Given the description of an element on the screen output the (x, y) to click on. 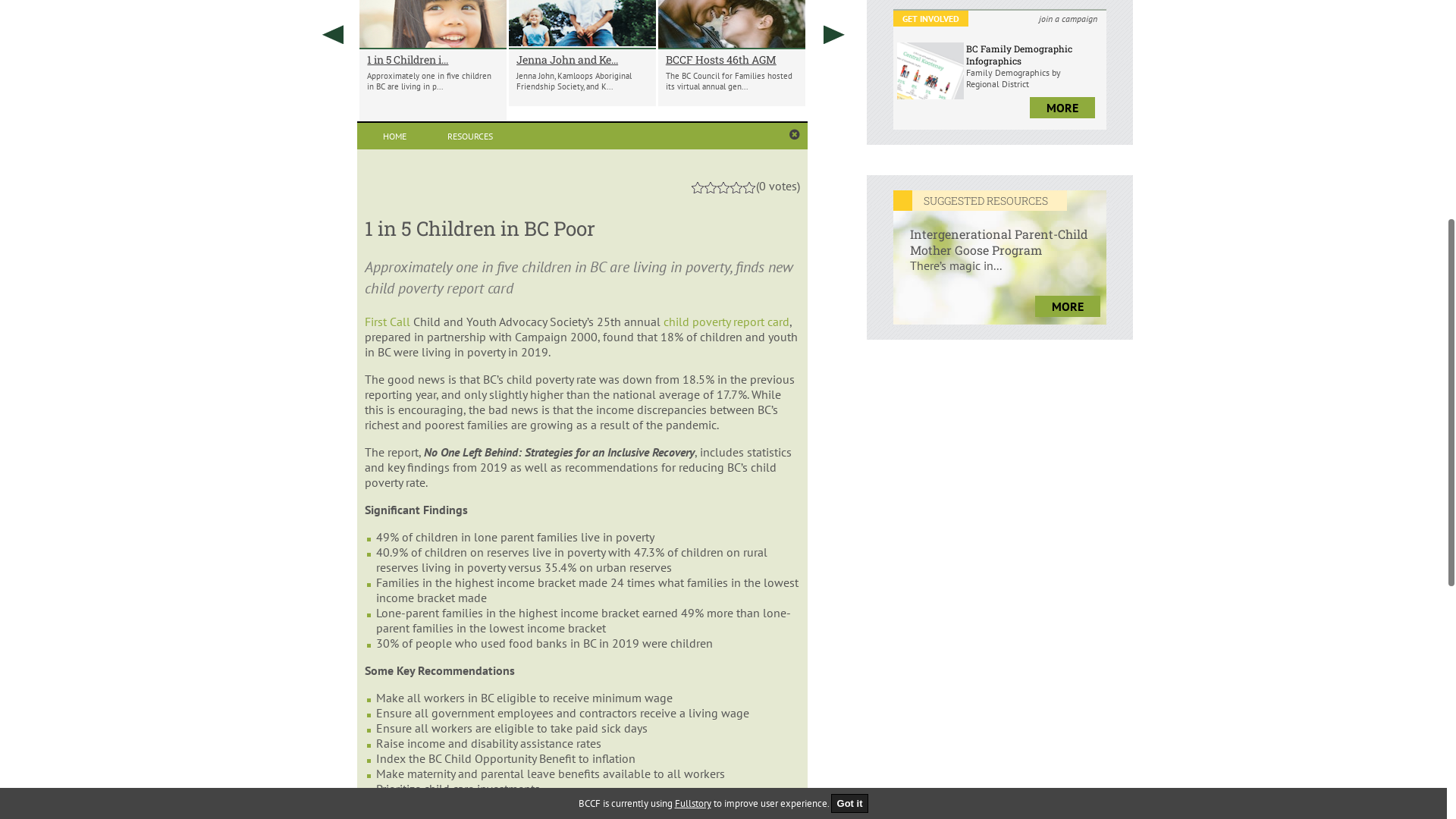
Blog Element type: text (604, 125)
CREATE ACCOUNT Element type: text (967, 48)
Close Element type: hover (794, 617)
3 Element type: text (723, 669)
Trainings Element type: text (528, 125)
BCCF Hosts 46th AGM Element type: text (731, 541)
RESOURCES Element type: text (469, 618)
First Call Element type: text (388, 803)
4 Element type: text (736, 669)
Bookstore Element type: text (433, 125)
SHOPPING CART Element type: text (963, 59)
5 Element type: text (749, 669)
Jenna John and Ke... Element type: text (582, 541)
RESOURCES Element type: text (631, 166)
TAG Element type: text (784, 125)
MORE Element type: text (1065, 772)
Home Element type: text (348, 125)
1 Element type: text (697, 669)
Join Element type: text (662, 125)
HOME Element type: text (394, 618)
TOPIC Element type: text (482, 166)
child poverty report card Element type: text (726, 803)
PROGRAMS Element type: text (780, 166)
LOGIN Element type: text (943, 37)
TALK  ACT  GET INVOLVED Element type: text (999, 223)
Slide View Element type: hover (779, 436)
1 in 5 Children i... Element type: text (432, 541)
MORE Element type: text (1062, 378)
MORE Element type: text (1062, 589)
Grid View Element type: hover (726, 436)
2 Element type: text (710, 669)
Links Element type: text (723, 125)
